Given the description of an element on the screen output the (x, y) to click on. 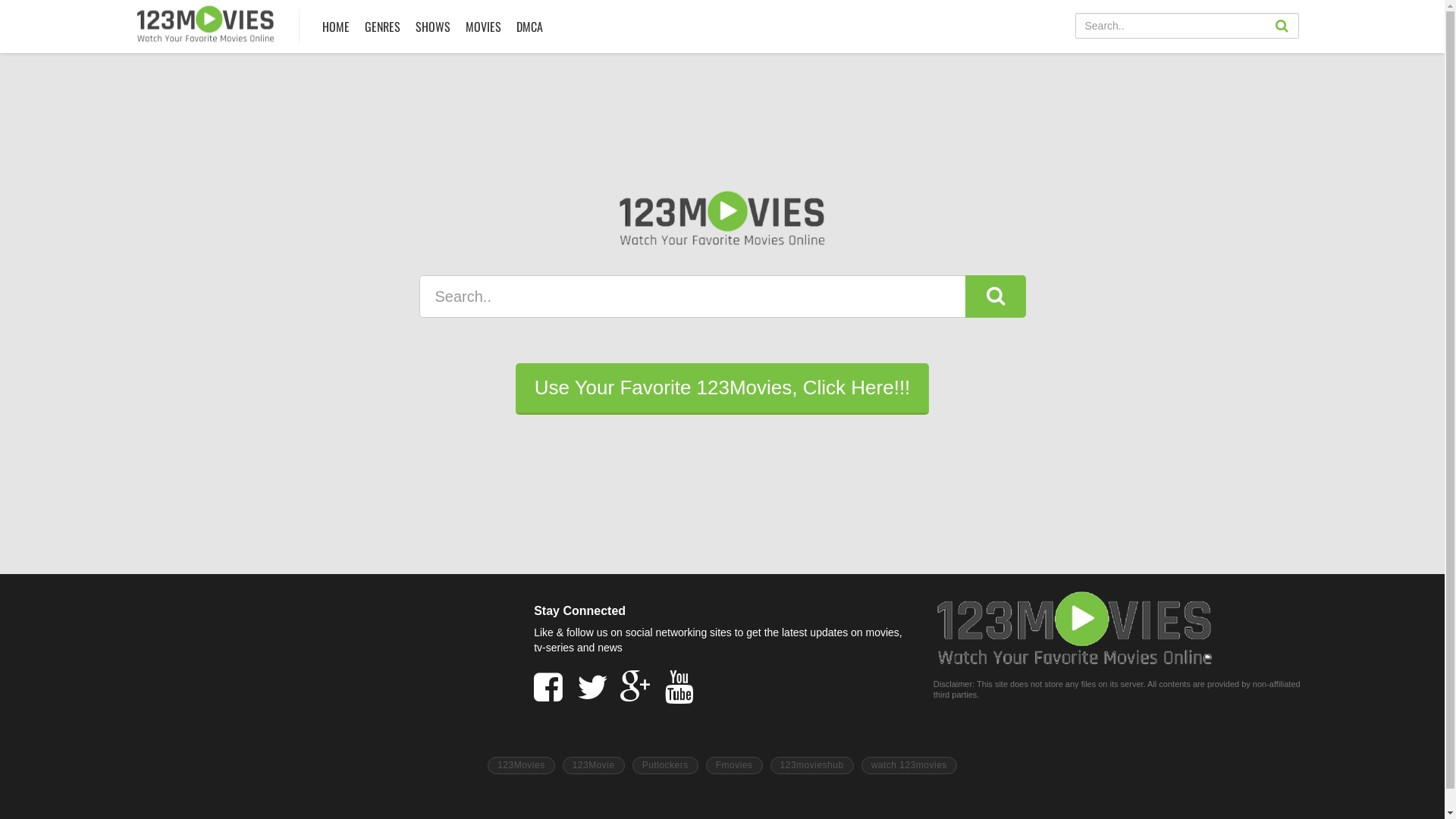
DMCA Element type: text (529, 26)
Fmovies Element type: text (734, 765)
MOVIES Element type: text (482, 26)
Putlockers Element type: text (665, 765)
watch 123movies Element type: text (909, 765)
HOME Element type: text (335, 26)
Use Your Favorite 123Movies, Click Here!!! Element type: text (722, 388)
123Movie Element type: text (593, 765)
SHOWS Element type: text (432, 26)
123movieshub Element type: text (811, 765)
123Movies Element type: text (521, 765)
GENRES Element type: text (382, 26)
